Given the description of an element on the screen output the (x, y) to click on. 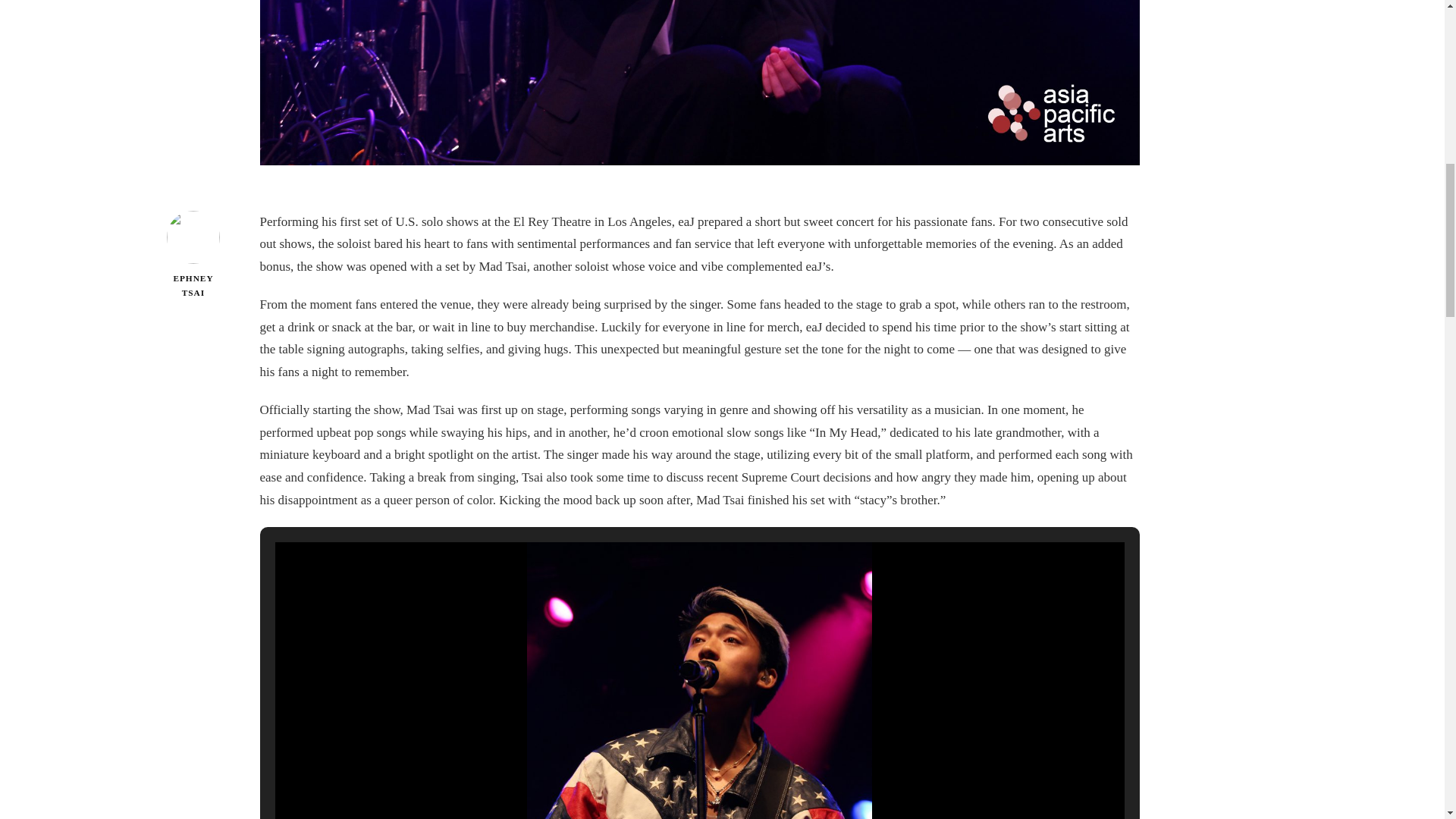
Mad Tsai (699, 680)
